Given the description of an element on the screen output the (x, y) to click on. 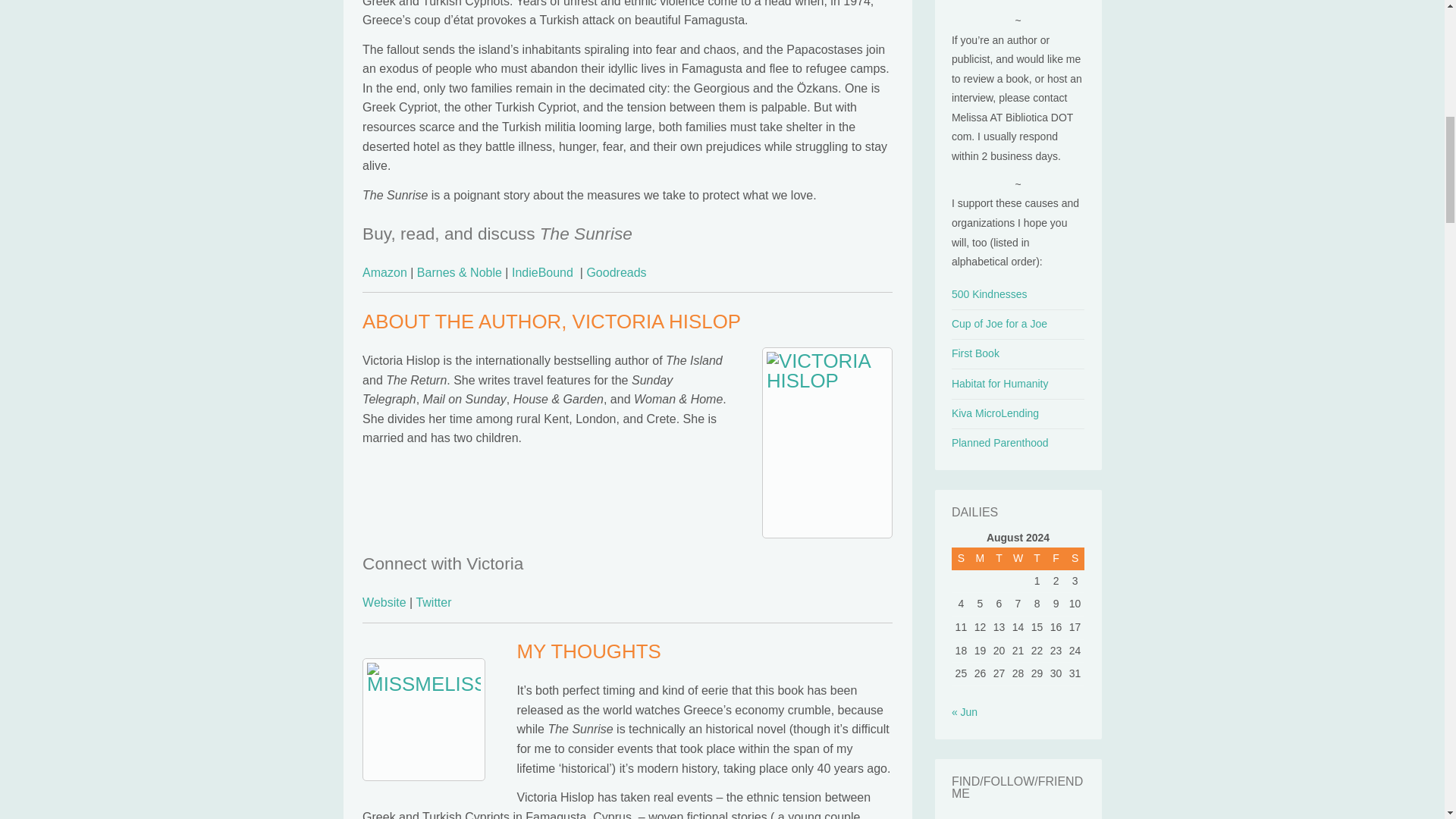
Amazon (384, 272)
IndieBound (542, 272)
Website (384, 602)
Twitter (432, 602)
Goodreads (616, 272)
